Given the description of an element on the screen output the (x, y) to click on. 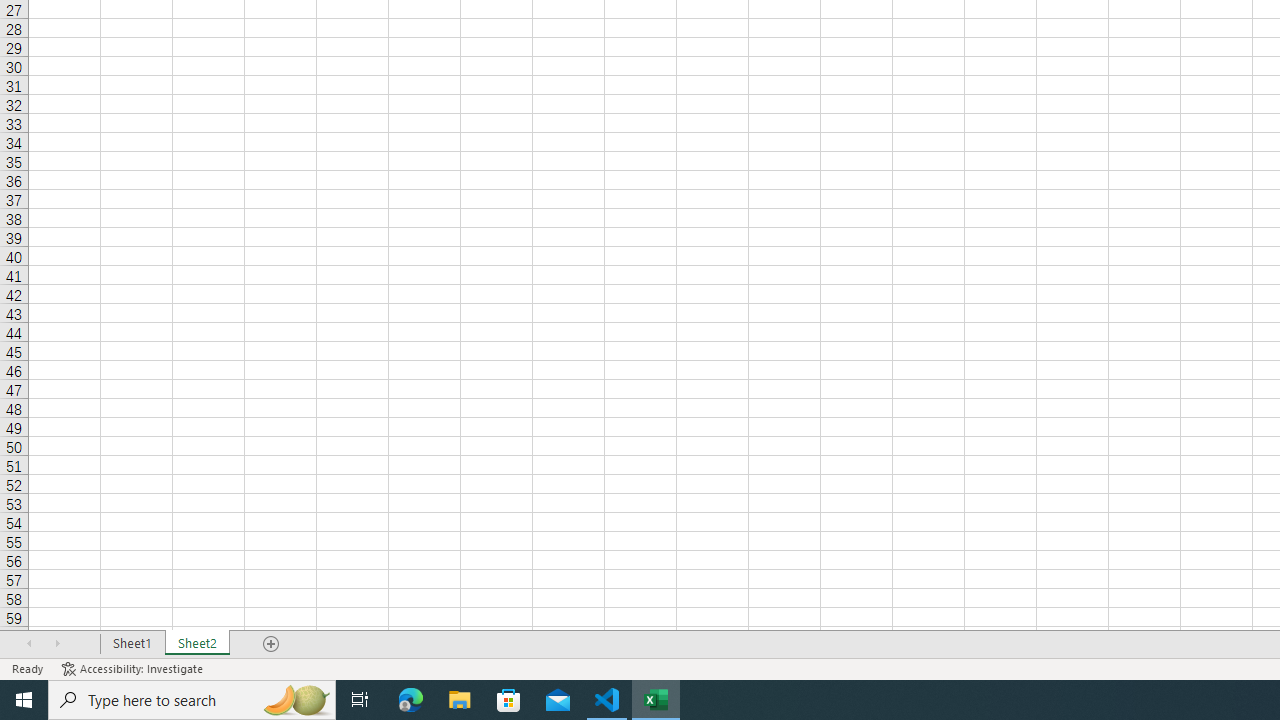
Accessibility Checker Accessibility: Investigate (134, 668)
Sheet2 (197, 644)
